Given the description of an element on the screen output the (x, y) to click on. 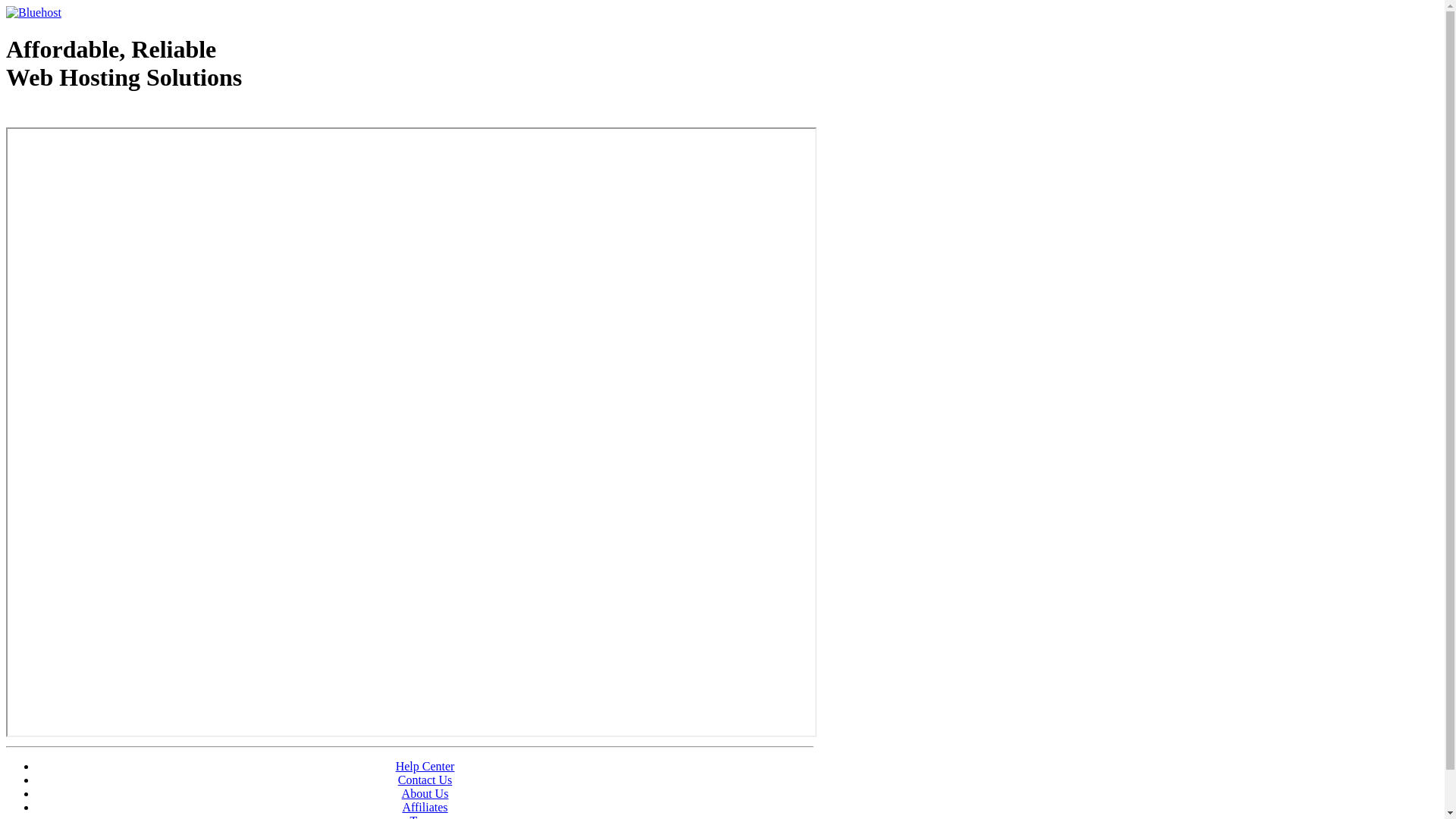
Help Center Element type: text (425, 765)
About Us Element type: text (424, 793)
Web Hosting - courtesy of www.bluehost.com Element type: text (94, 115)
Affiliates Element type: text (424, 806)
Contact Us Element type: text (425, 779)
